Given the description of an element on the screen output the (x, y) to click on. 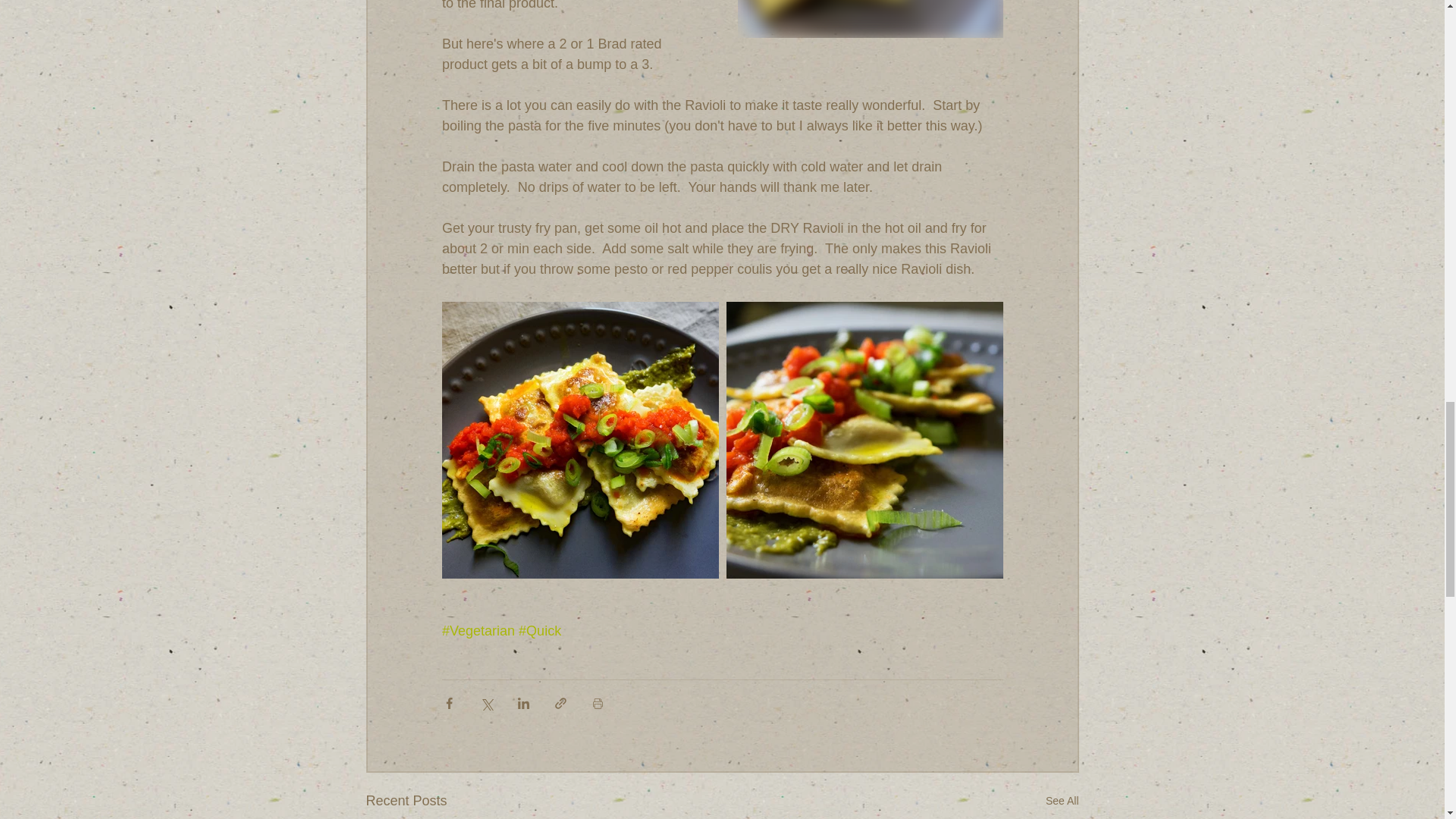
See All (1061, 801)
